Given the description of an element on the screen output the (x, y) to click on. 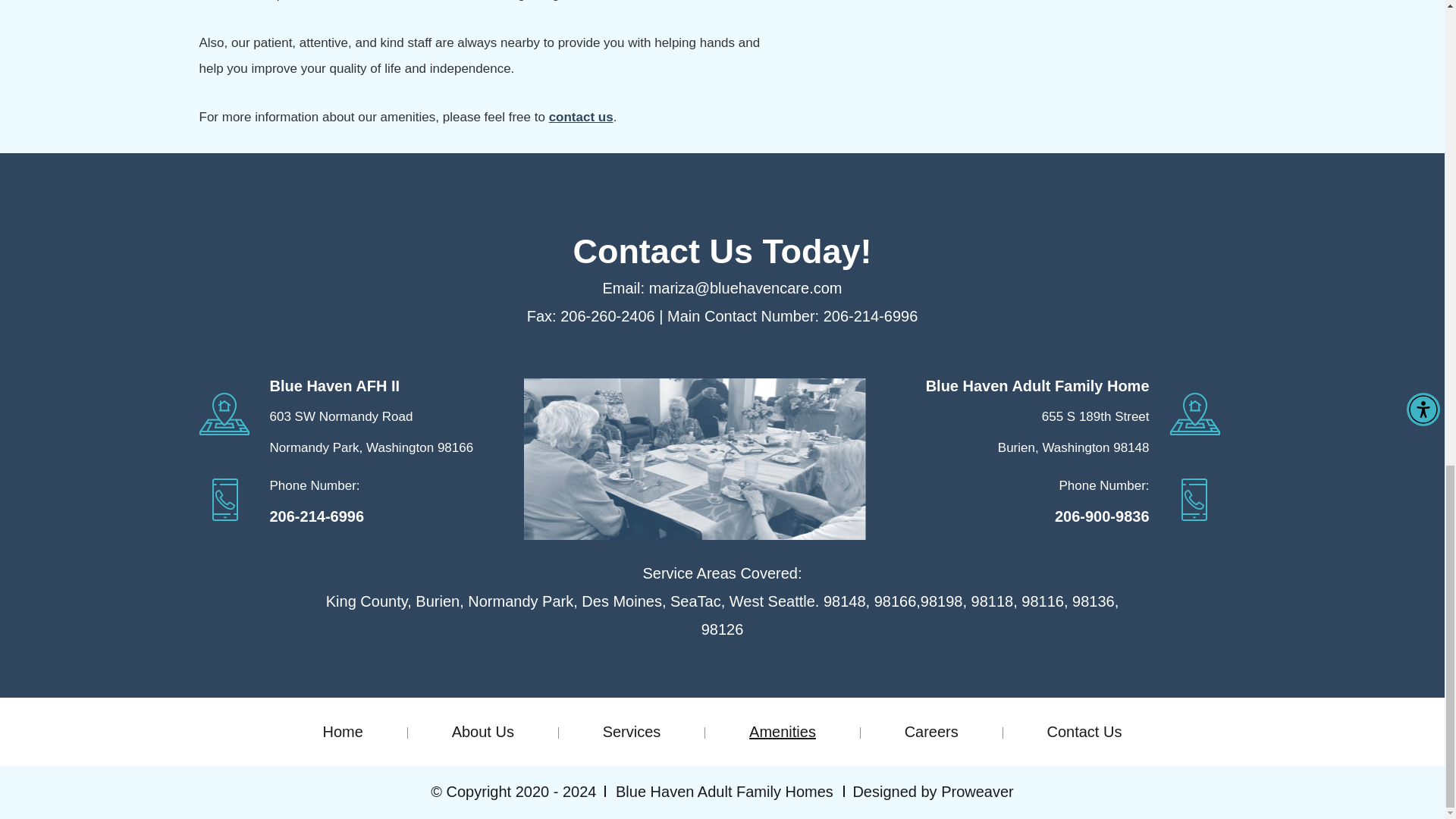
Home (343, 731)
About Us (482, 731)
Proweaver (976, 791)
Careers (931, 731)
Amenities (782, 731)
Services (631, 731)
contact us (580, 116)
Contact Us (1083, 731)
